Given the description of an element on the screen output the (x, y) to click on. 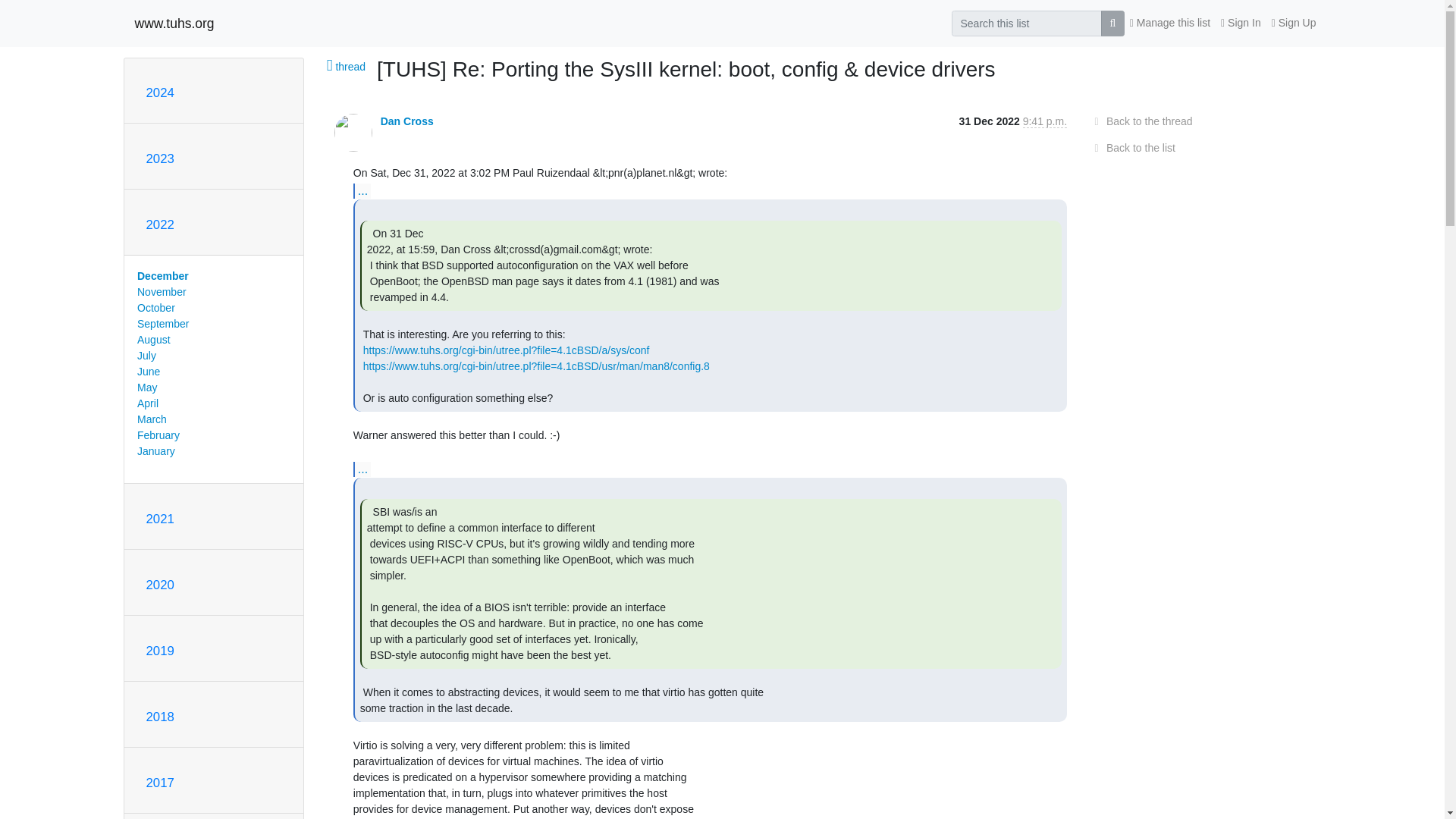
September (162, 323)
Sign In (1240, 22)
Manage this list (1169, 22)
Sign Up (1294, 22)
2024 (159, 92)
Sender's time: Dec. 31, 2022, 4:41 p.m. (1045, 121)
December (162, 275)
July (145, 355)
June (148, 371)
2023 (159, 158)
